Given the description of an element on the screen output the (x, y) to click on. 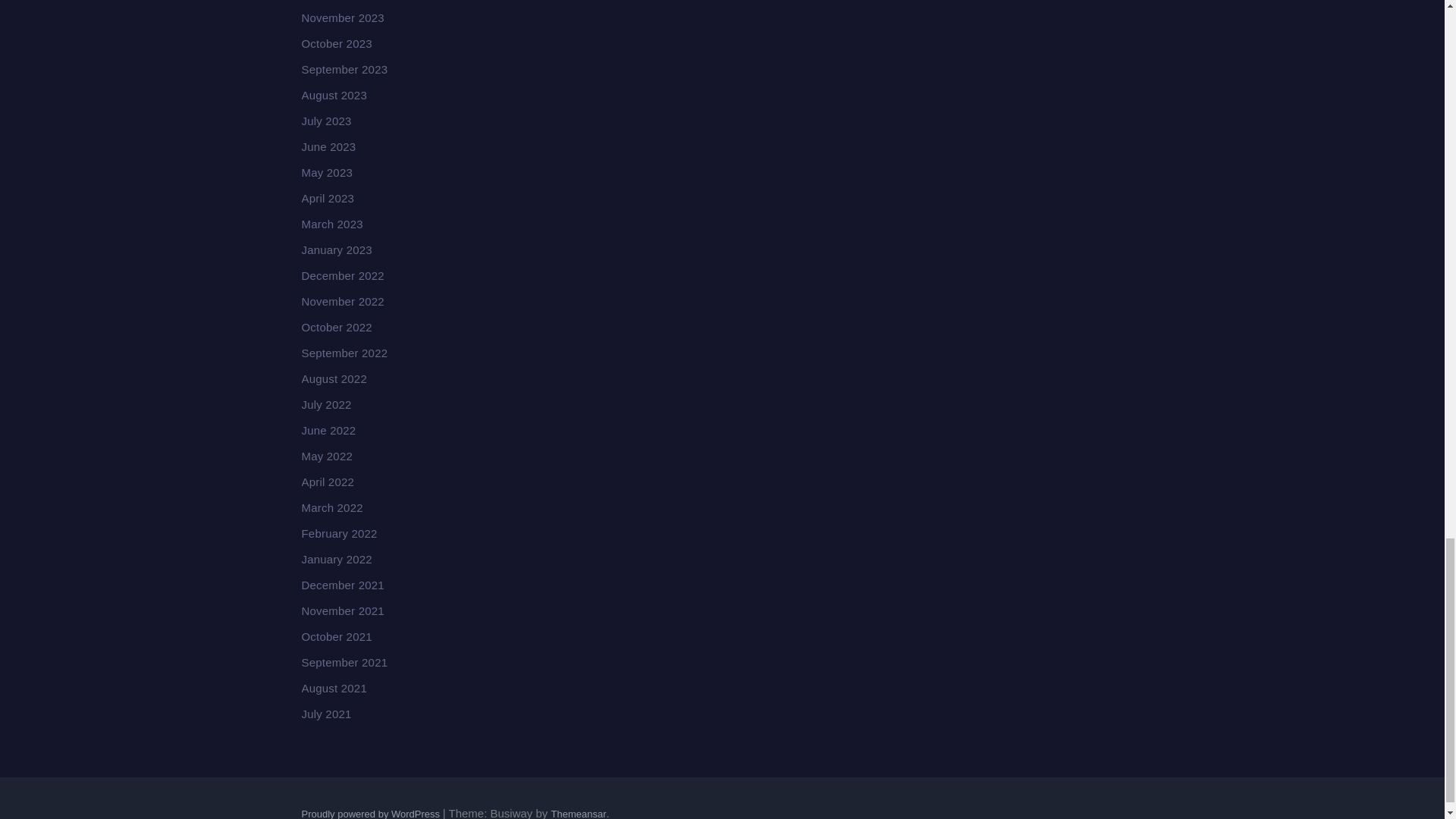
May 2023 (326, 172)
June 2023 (328, 146)
March 2023 (331, 223)
September 2023 (344, 69)
August 2023 (333, 94)
October 2023 (336, 42)
November 2023 (342, 17)
July 2023 (326, 120)
January 2023 (336, 249)
April 2023 (328, 197)
